Given the description of an element on the screen output the (x, y) to click on. 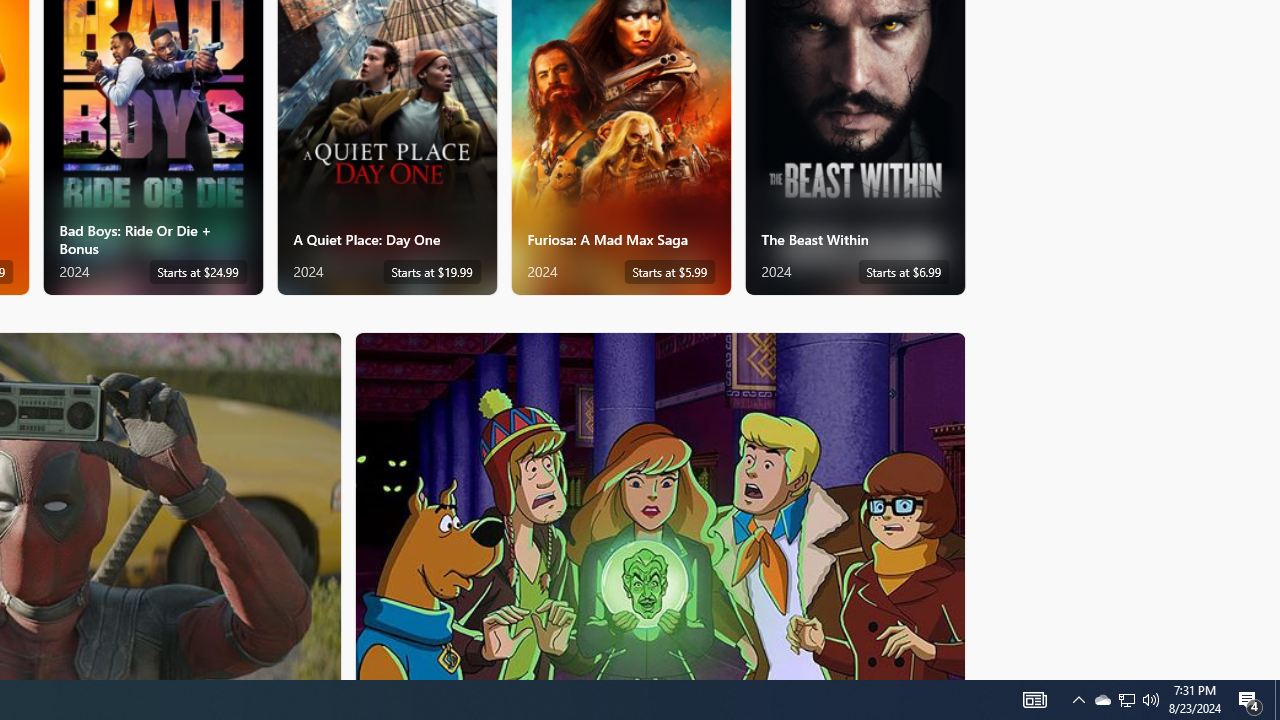
AutomationID: PosterImage (658, 505)
Family (660, 505)
